Given the description of an element on the screen output the (x, y) to click on. 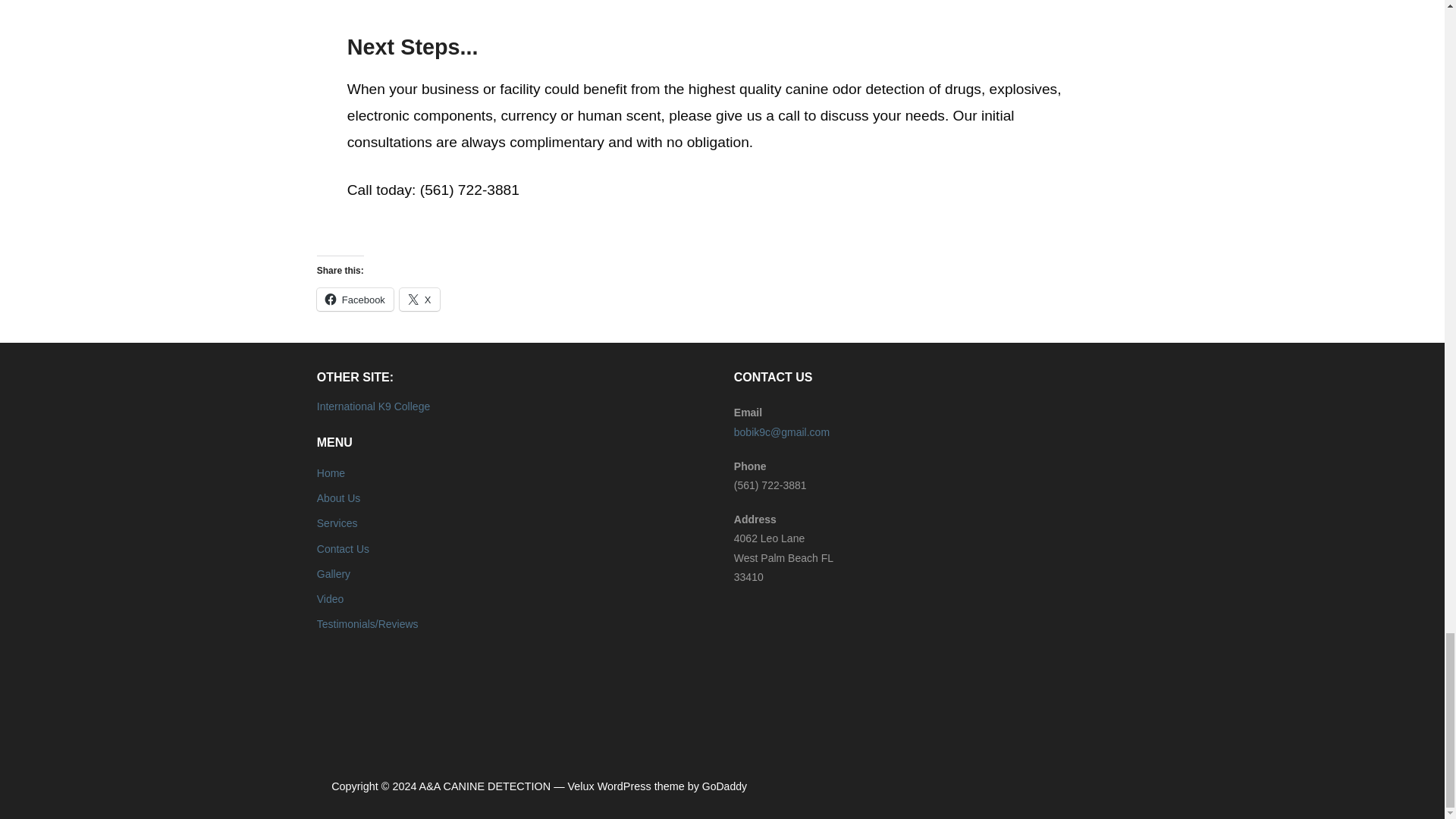
Facebook (355, 299)
Click to share on X (418, 299)
International K9 College (373, 406)
X (418, 299)
Gallery (333, 573)
Home (331, 472)
Video (330, 598)
Services (337, 522)
Contact Us (343, 548)
Click to share on Facebook (355, 299)
About Us (339, 498)
GoDaddy (723, 786)
